Given the description of an element on the screen output the (x, y) to click on. 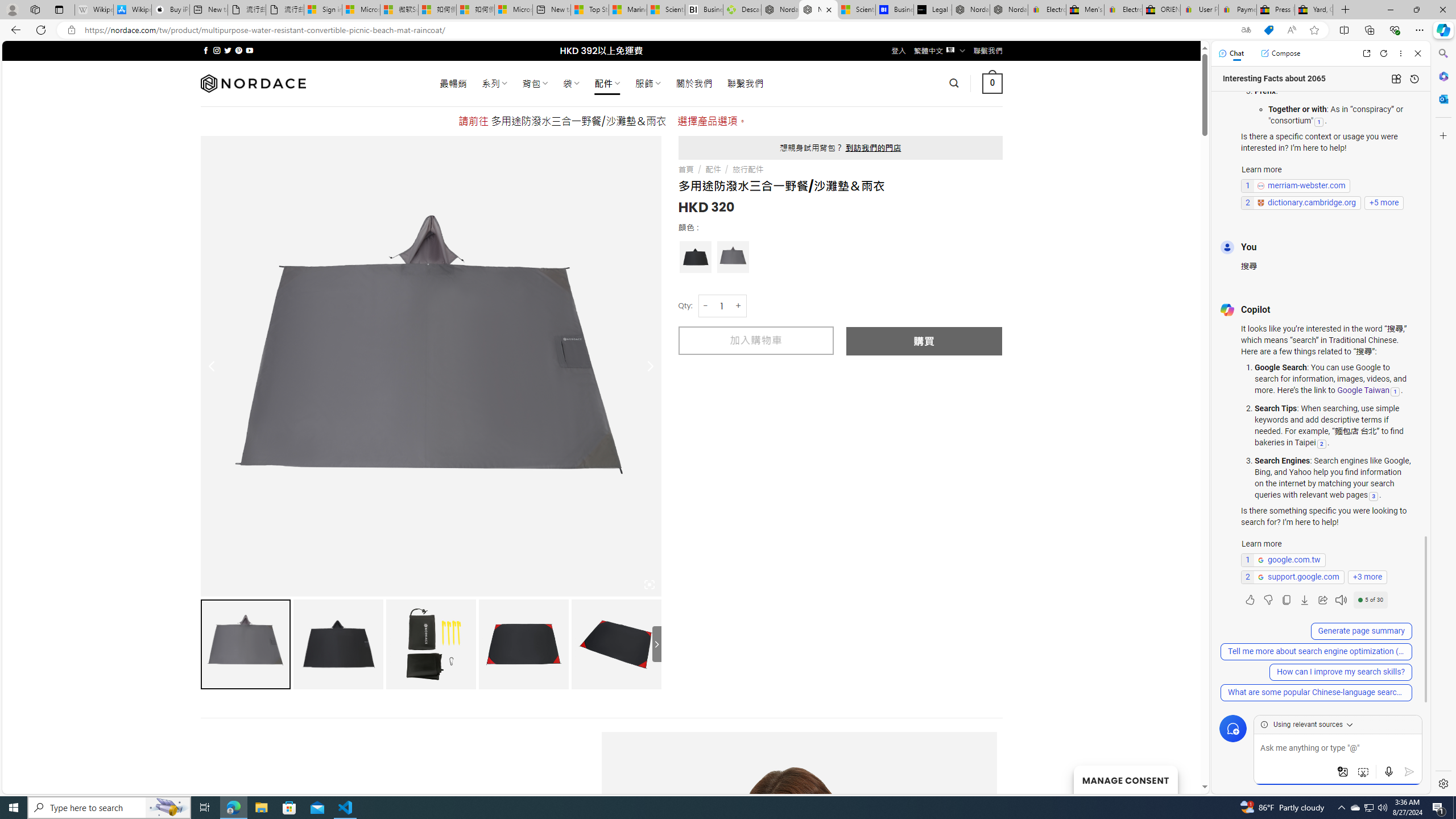
MANAGE CONSENT (1125, 779)
+ (738, 305)
This site has coupons! Shopping in Microsoft Edge (1268, 29)
Follow on YouTube (249, 50)
Class: iconic-woothumbs-fullscreen (649, 584)
